Given the description of an element on the screen output the (x, y) to click on. 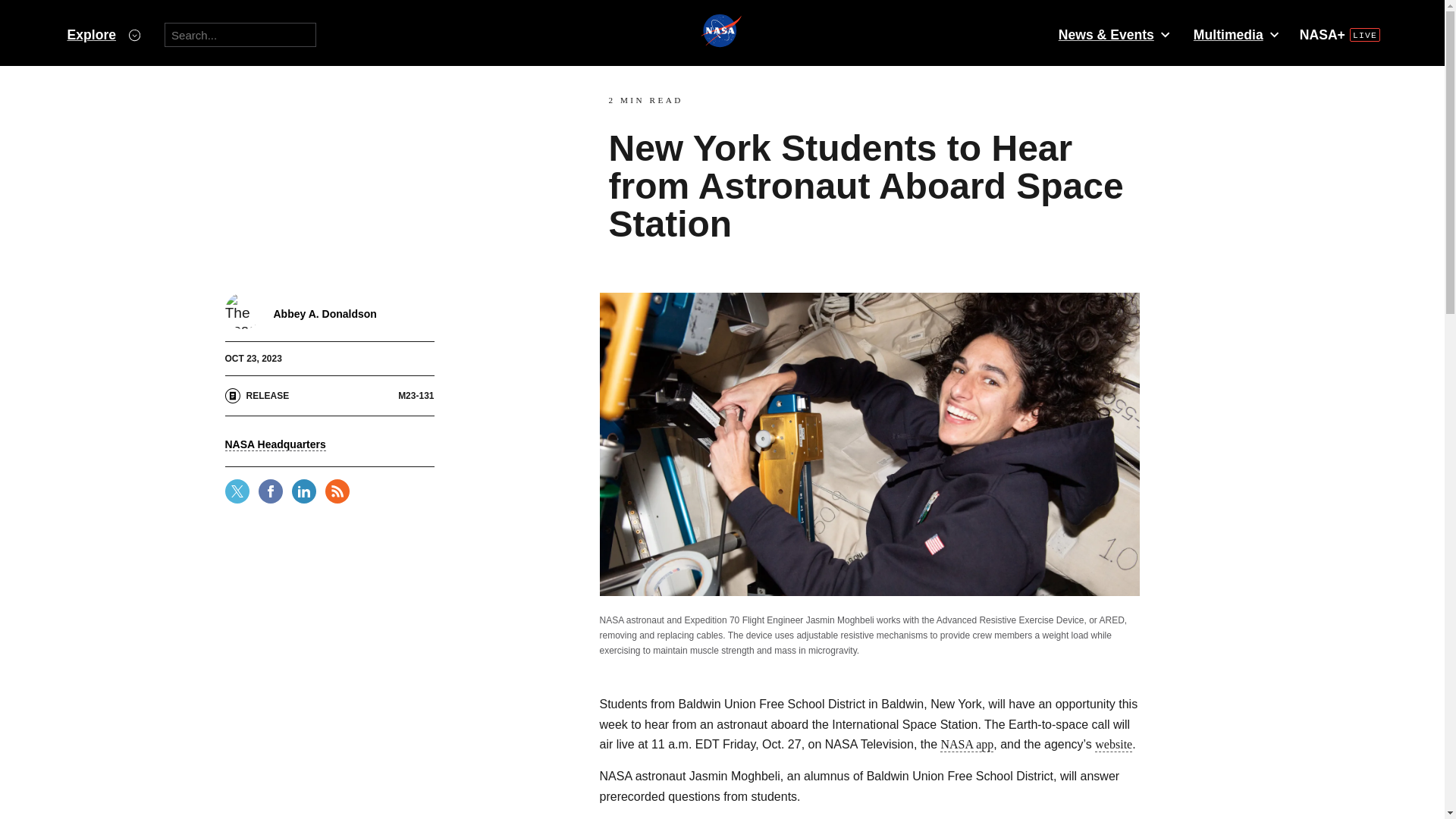
Multimedia (1235, 35)
NASA app (966, 744)
website (1113, 744)
NASA Headquarters (274, 444)
Explore (103, 35)
